Given the description of an element on the screen output the (x, y) to click on. 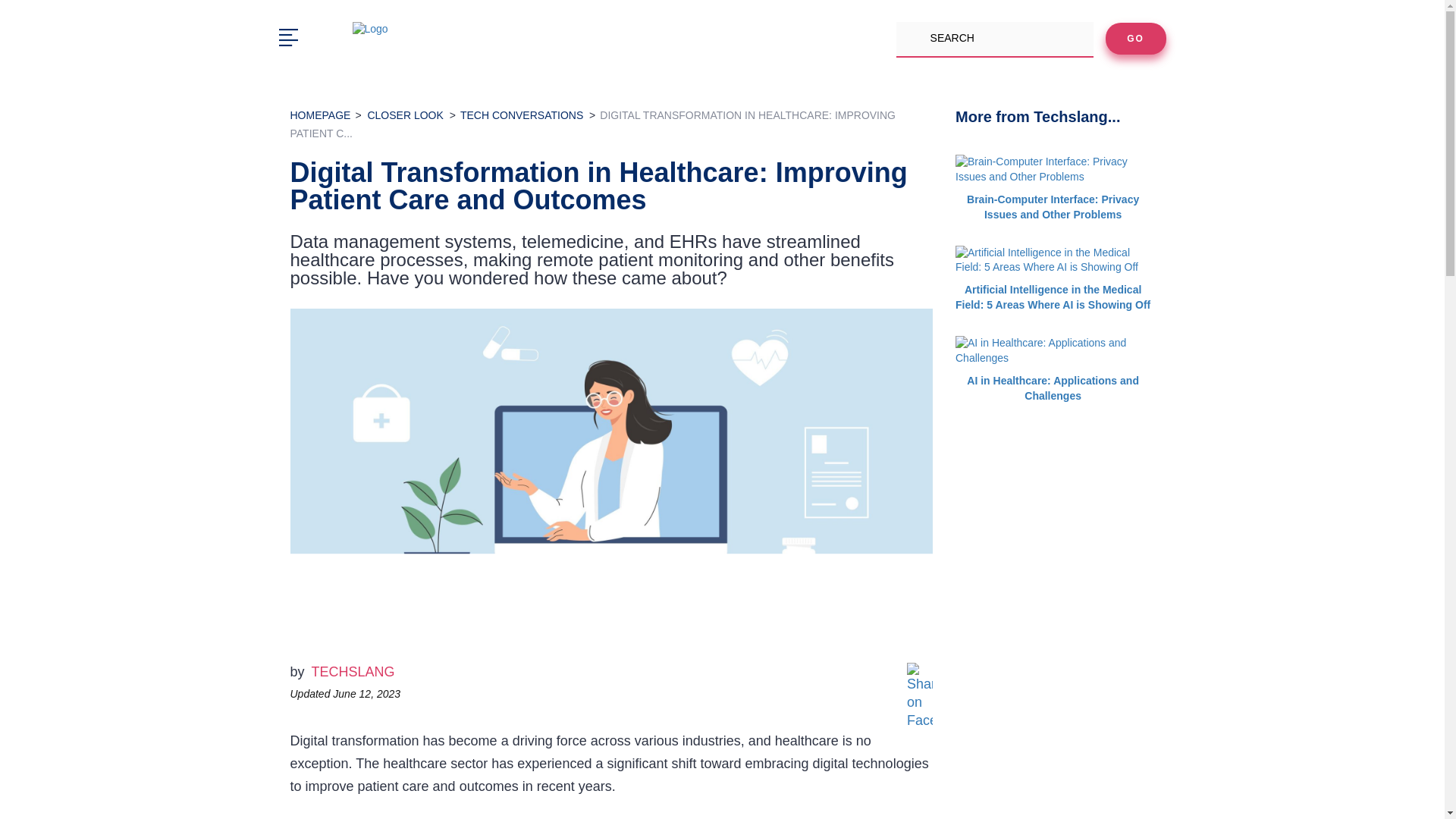
Brain-Computer Interface: Privacy Issues and Other Problems (1052, 191)
CLOSER LOOK (404, 114)
AI in Healthcare: Applications and Challenges (1052, 373)
GO (1135, 38)
TECH CONVERSATIONS (521, 114)
HOMEPAGE (319, 114)
